Given the description of an element on the screen output the (x, y) to click on. 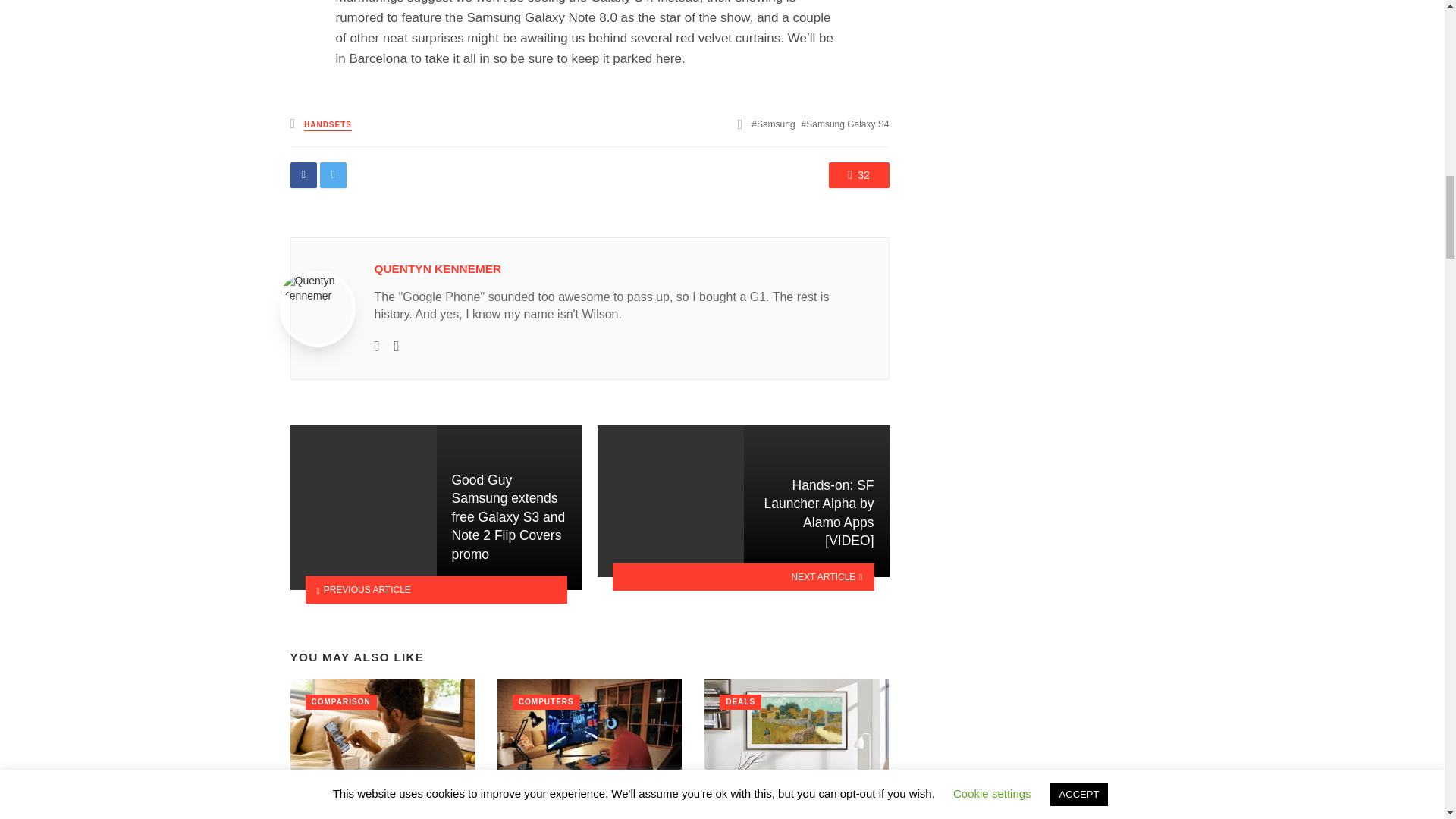
QUENTYN KENNEMER (438, 268)
Samsung (772, 123)
Posts by Quentyn Kennemer (438, 268)
HANDSETS (328, 125)
Samsung Galaxy S4 (845, 123)
32 (858, 175)
